Given the description of an element on the screen output the (x, y) to click on. 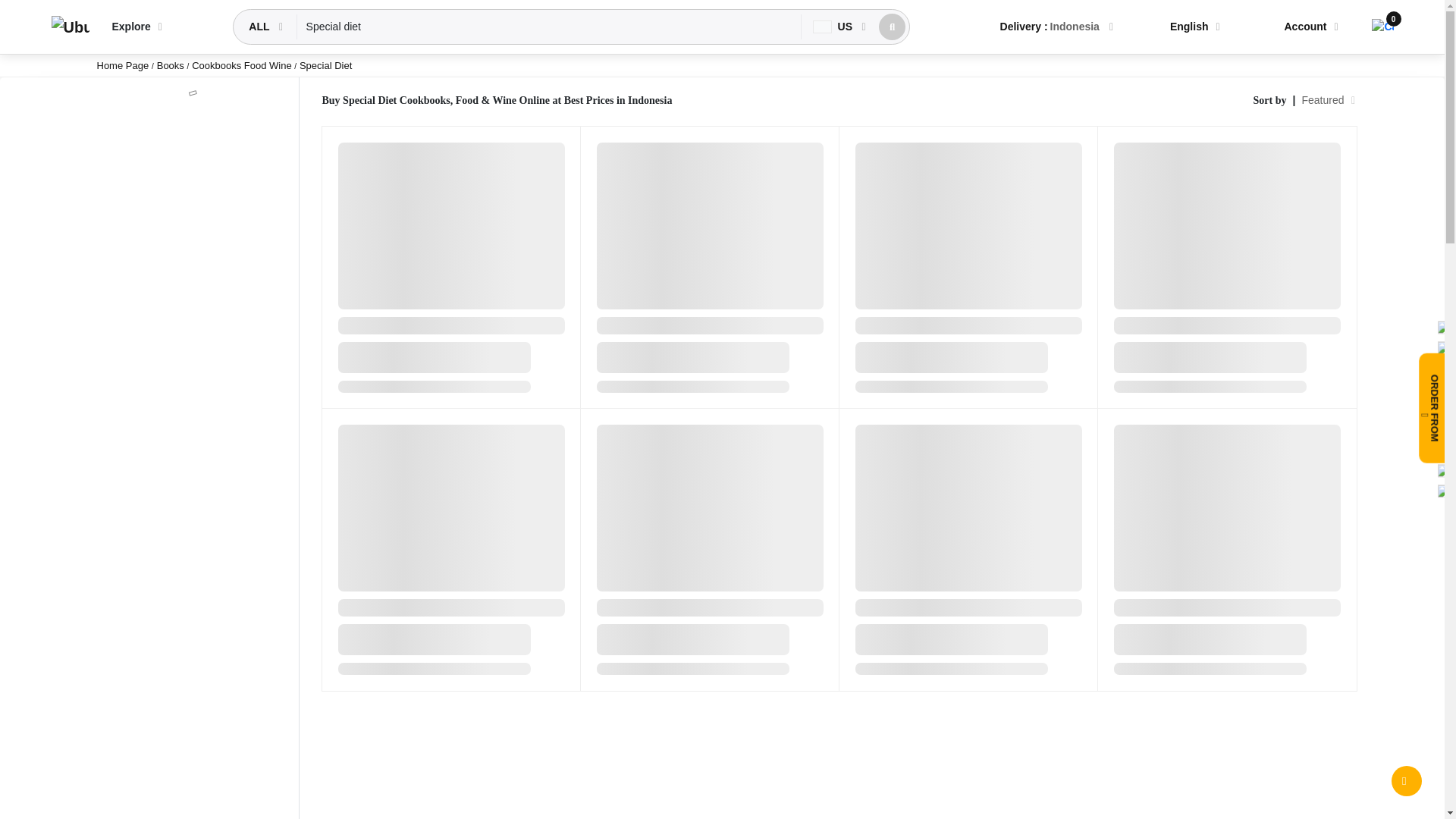
ALL (260, 26)
Ubuy (69, 27)
0 (1382, 27)
US (834, 26)
Special diet (549, 26)
